Given the description of an element on the screen output the (x, y) to click on. 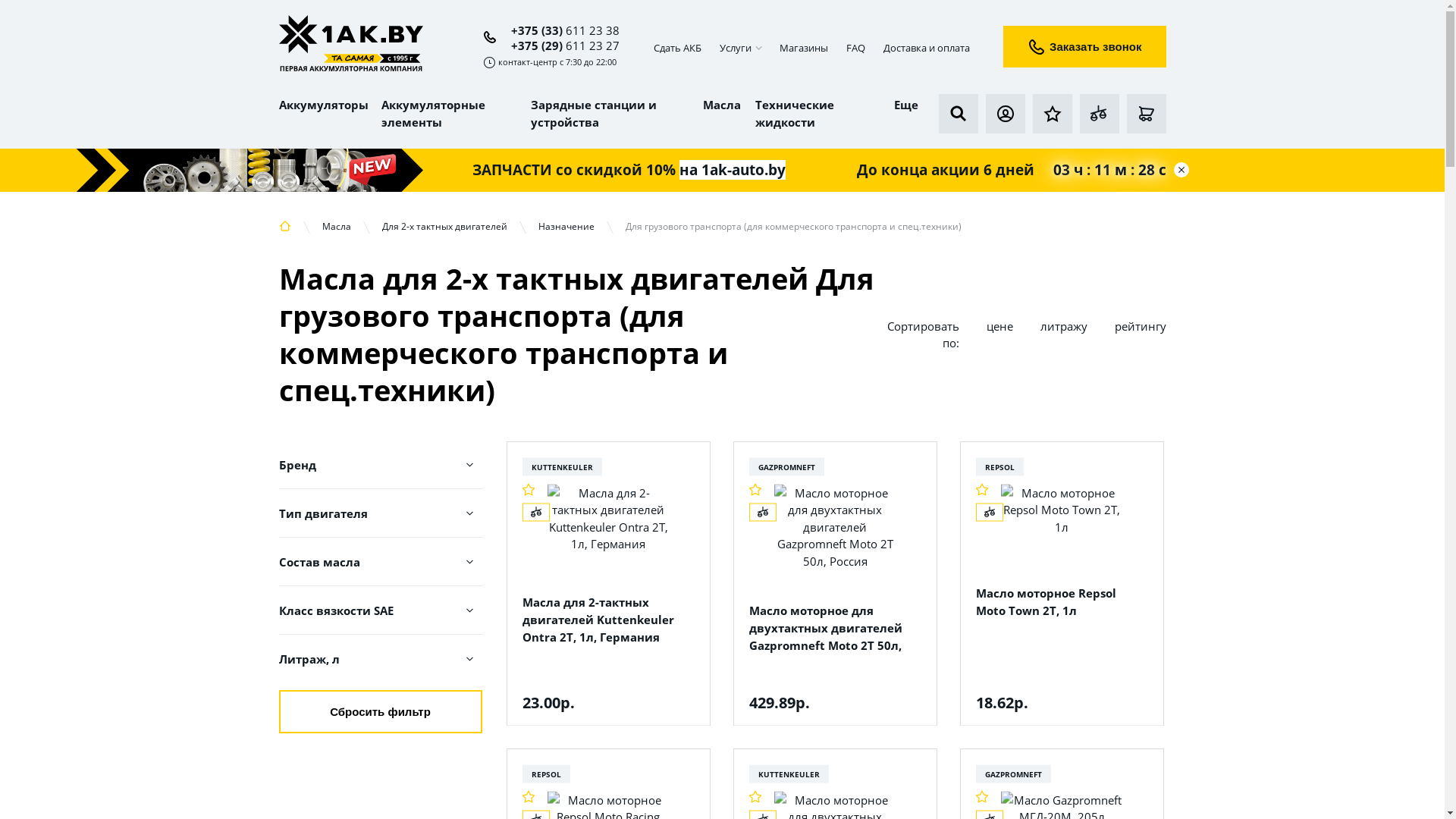
REPSOL Element type: text (545, 773)
+375 (29) 611 23 27 Element type: text (560, 45)
KUTTENKEULER Element type: text (561, 466)
FAQ Element type: text (855, 47)
REPSOL Element type: text (998, 466)
GAZPROMNEFT Element type: text (1012, 773)
GAZPROMNEFT Element type: text (786, 466)
+375 (33) 611 23 38 Element type: text (551, 29)
KUTTENKEULER Element type: text (788, 773)
1ak.by Element type: hover (351, 44)
